Given the description of an element on the screen output the (x, y) to click on. 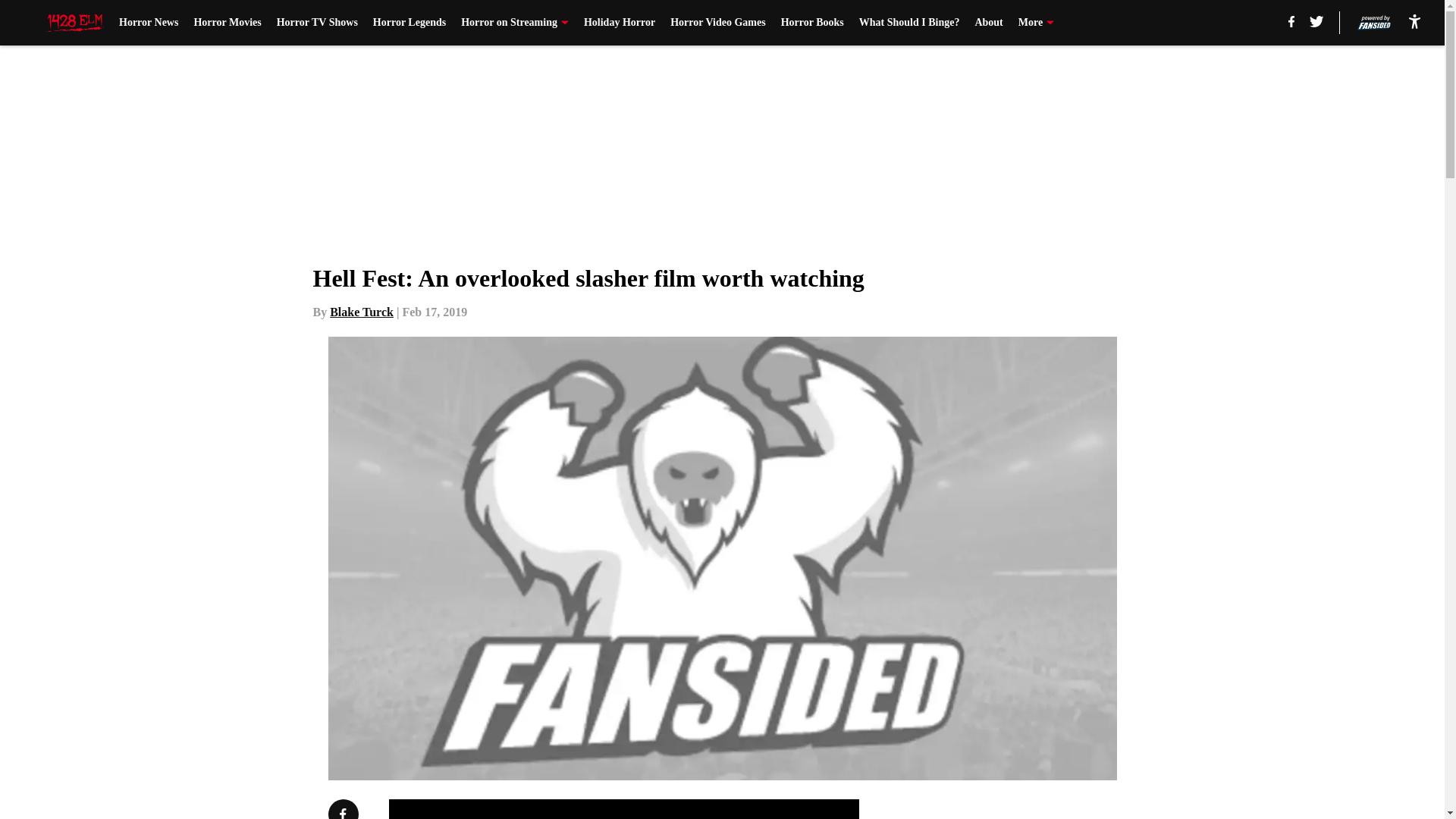
About (988, 22)
Horror Books (812, 22)
Horror TV Shows (317, 22)
Horror Legends (408, 22)
Holiday Horror (619, 22)
Horror News (148, 22)
What Should I Binge? (909, 22)
More (1035, 22)
Horror Movies (226, 22)
Blake Turck (361, 311)
